Given the description of an element on the screen output the (x, y) to click on. 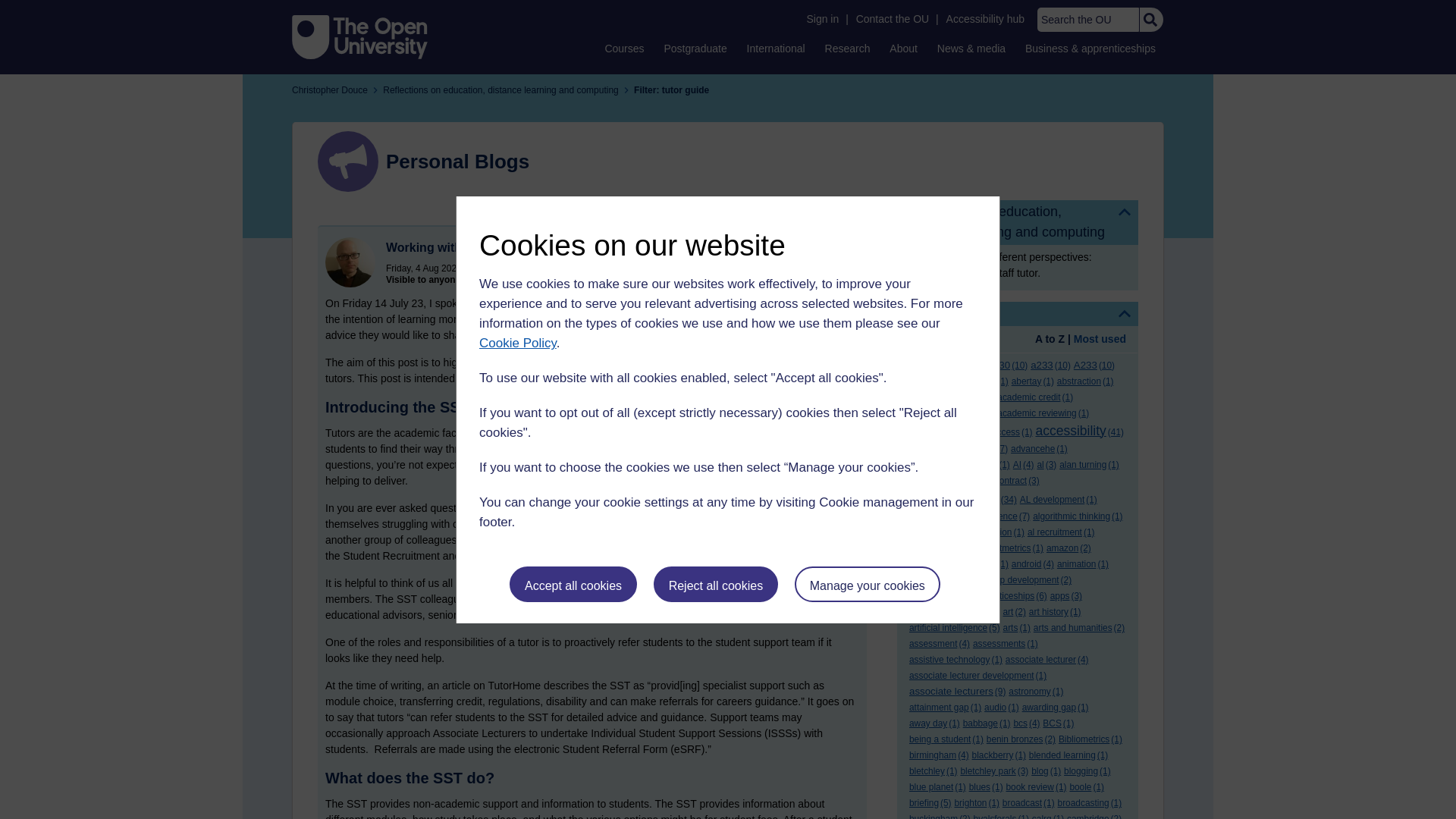
Research (847, 48)
Help with Order: (951, 340)
Accept all cookies (573, 583)
Manage your cookies (867, 583)
About (903, 48)
Cookie Policy (517, 342)
Postgraduate (695, 48)
International (775, 48)
Accessibility hub (985, 19)
